Given the description of an element on the screen output the (x, y) to click on. 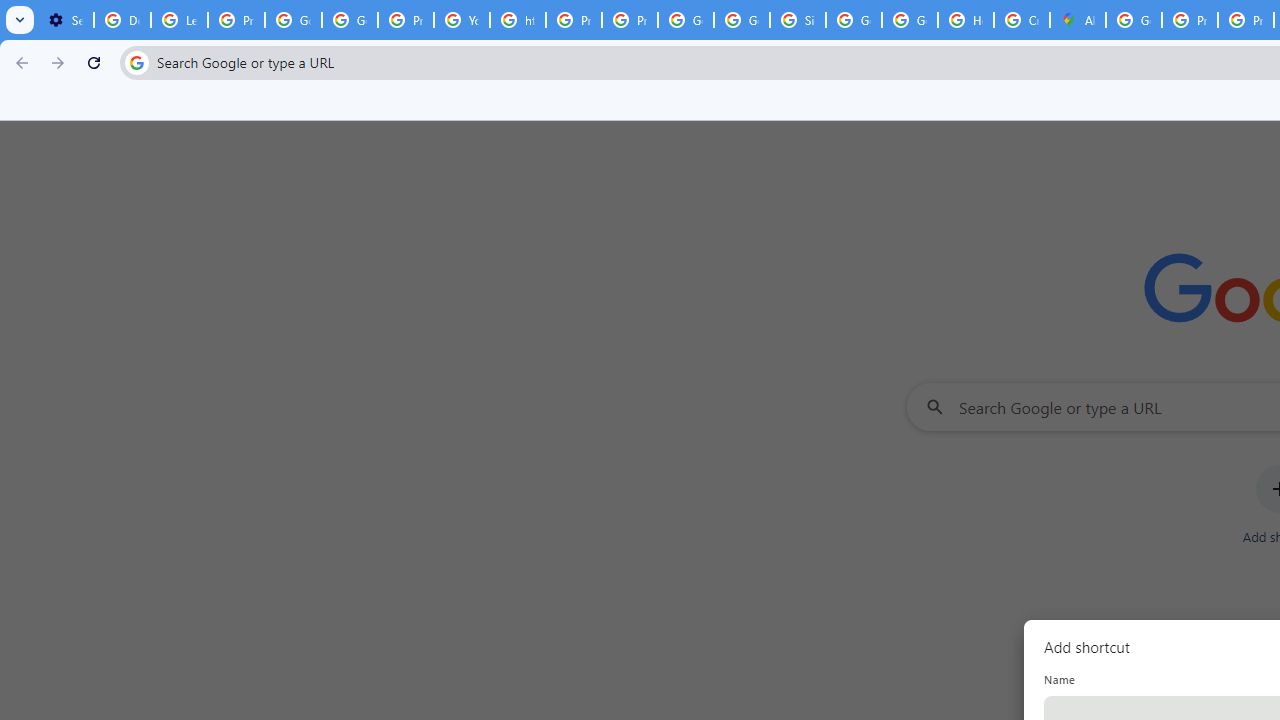
YouTube (461, 20)
Search icon (136, 62)
Privacy Help Center - Policies Help (573, 20)
Reload (93, 62)
Google Account Help (293, 20)
Search tabs (20, 20)
Sign in - Google Accounts (797, 20)
Learn how to find your photos - Google Photos Help (179, 20)
